Given the description of an element on the screen output the (x, y) to click on. 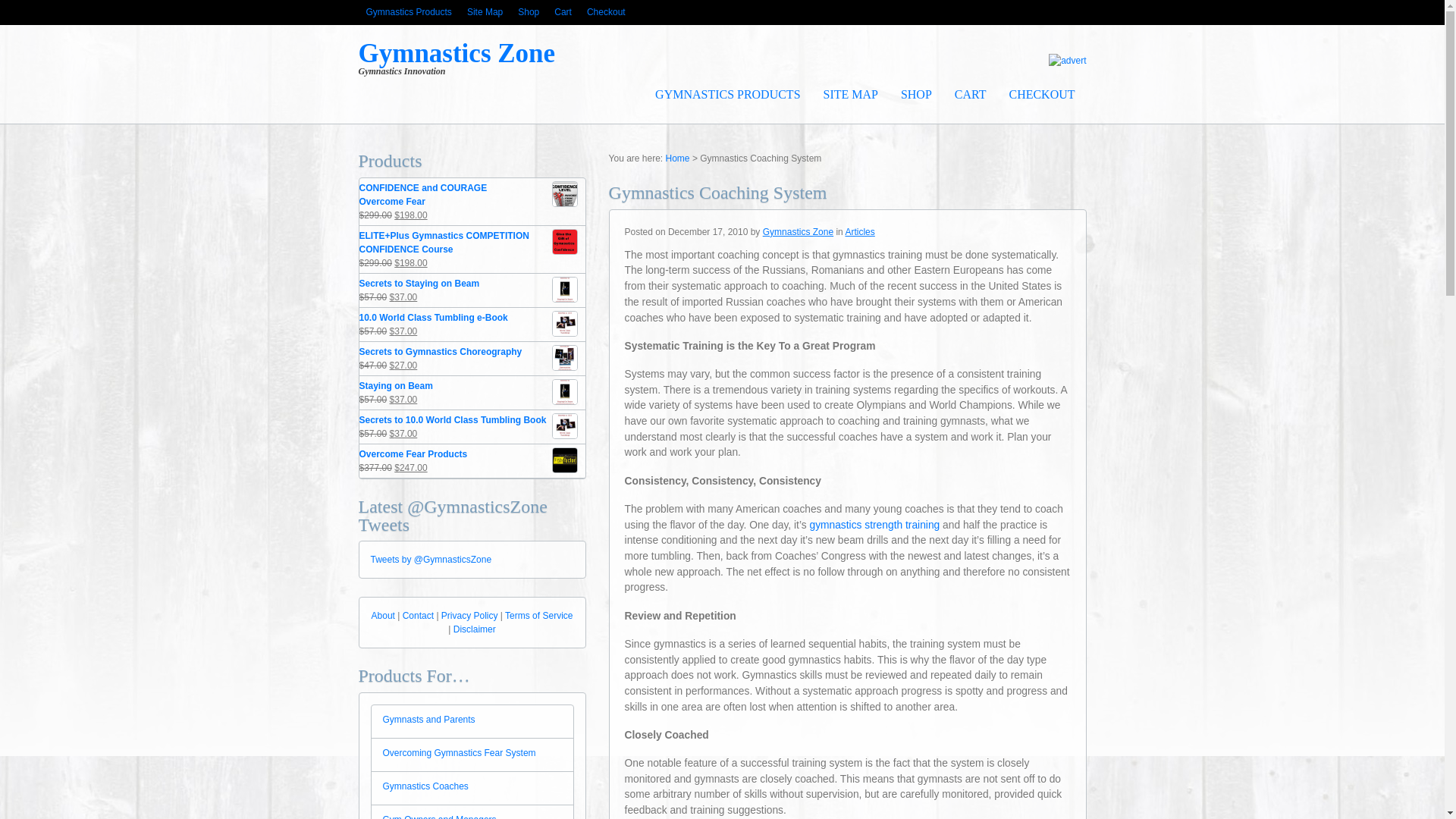
Gymnastics Zone (677, 158)
Cart (563, 12)
SITE MAP (850, 94)
Gymnastics Products (408, 12)
Posts by Gymnastics Zone (797, 231)
Checkout (606, 12)
Home (677, 158)
Shop (529, 12)
Site Map (485, 12)
GYMNASTICS PRODUCTS (726, 94)
CHECKOUT (1041, 94)
Gymnastics Zone (456, 52)
Gymnastics Zone (797, 231)
gymnastics strength training (874, 524)
Articles (859, 231)
